Given the description of an element on the screen output the (x, y) to click on. 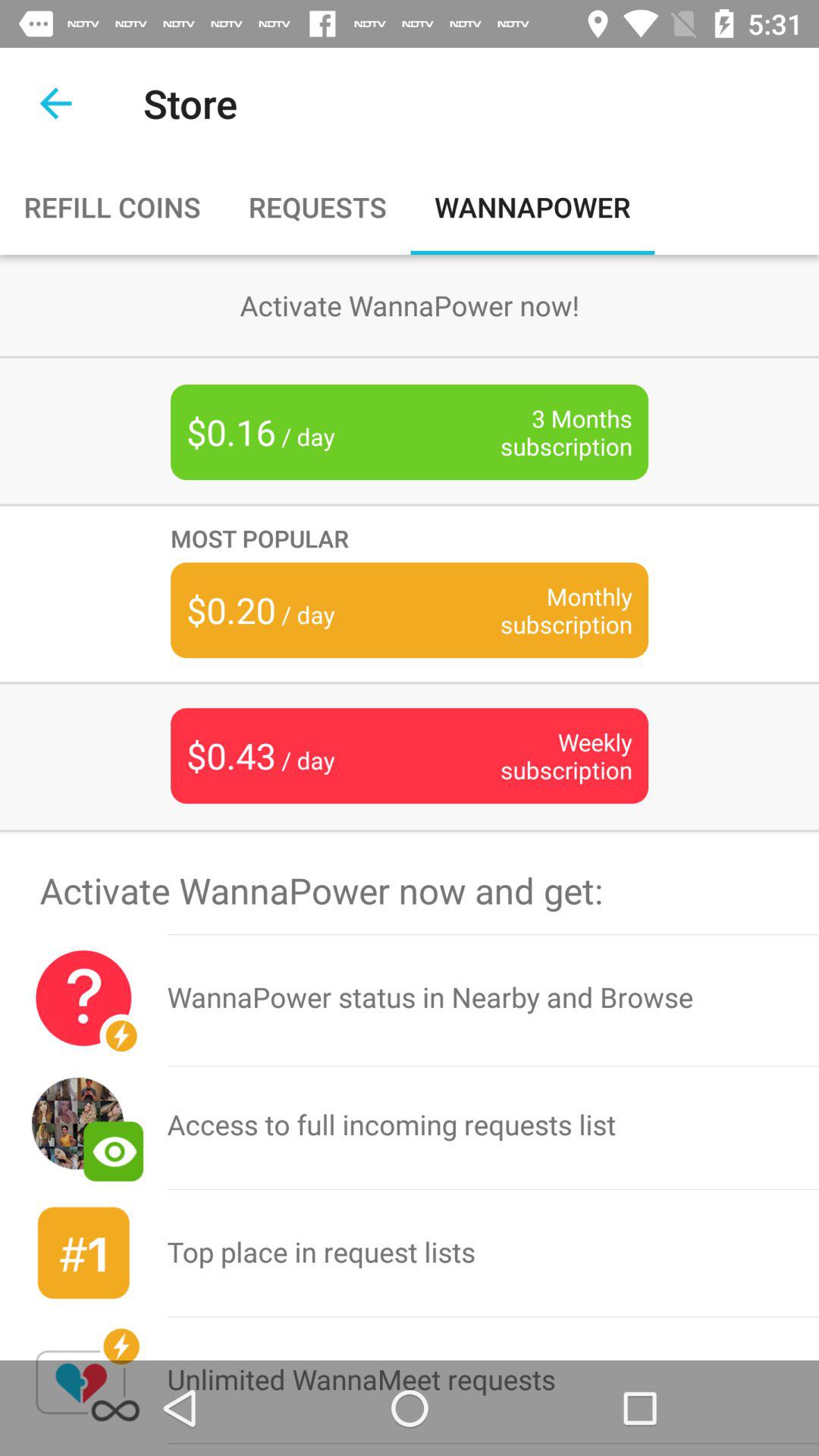
press the item to the left of the access to full (83, 1252)
